Given the description of an element on the screen output the (x, y) to click on. 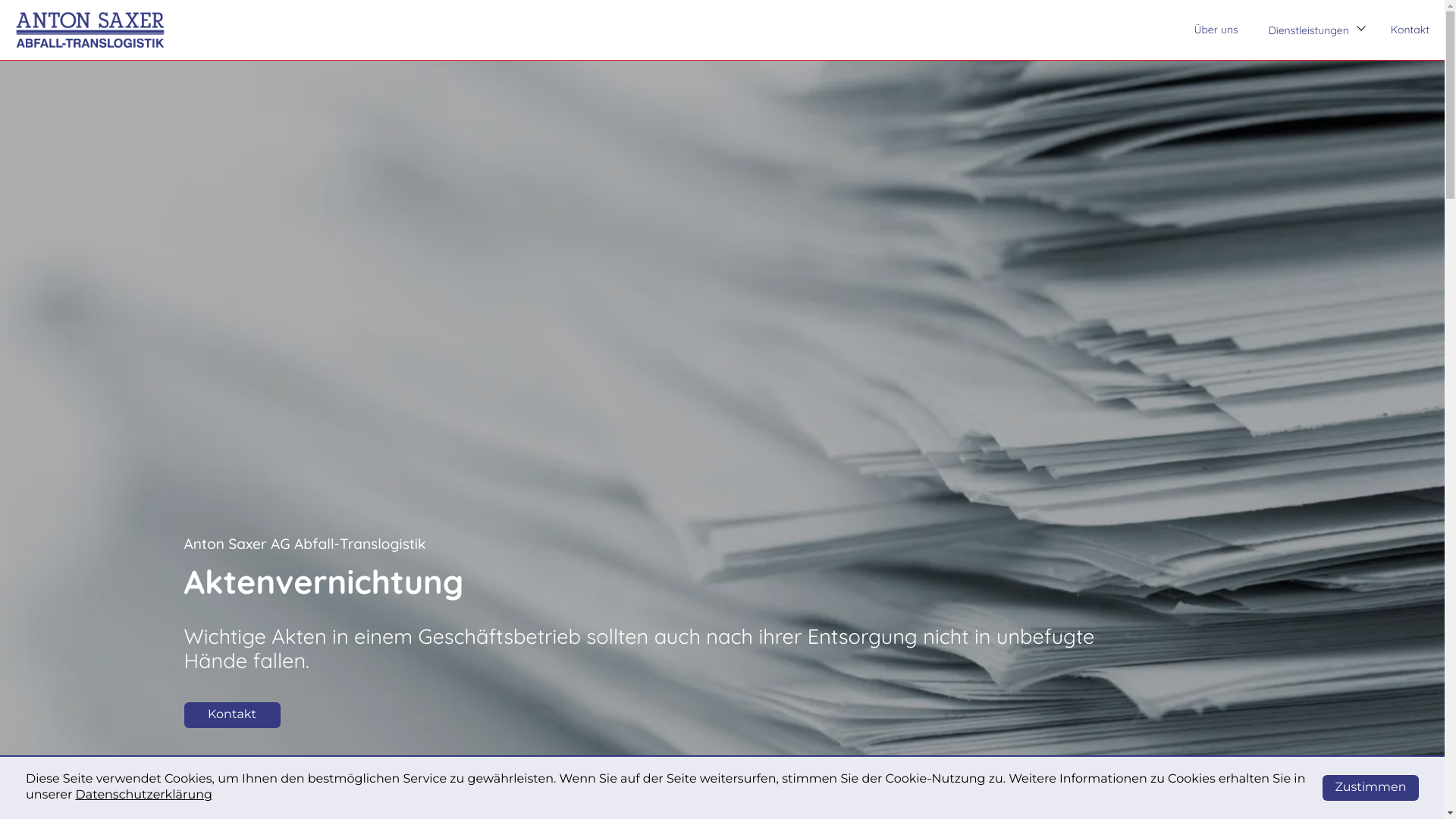
Kontakt Element type: text (1409, 30)
Kontakt Element type: text (231, 715)
